Given the description of an element on the screen output the (x, y) to click on. 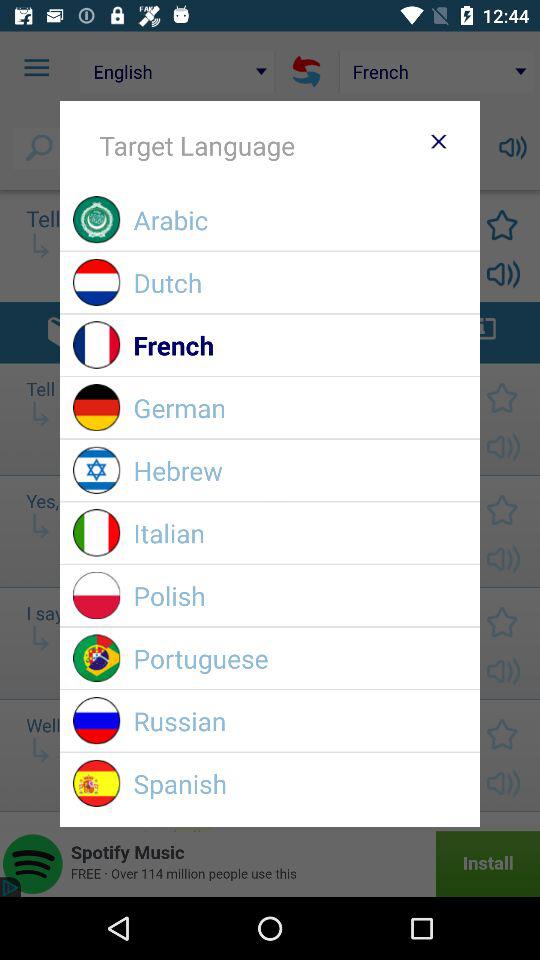
turn on icon below the hebrew (300, 532)
